Given the description of an element on the screen output the (x, y) to click on. 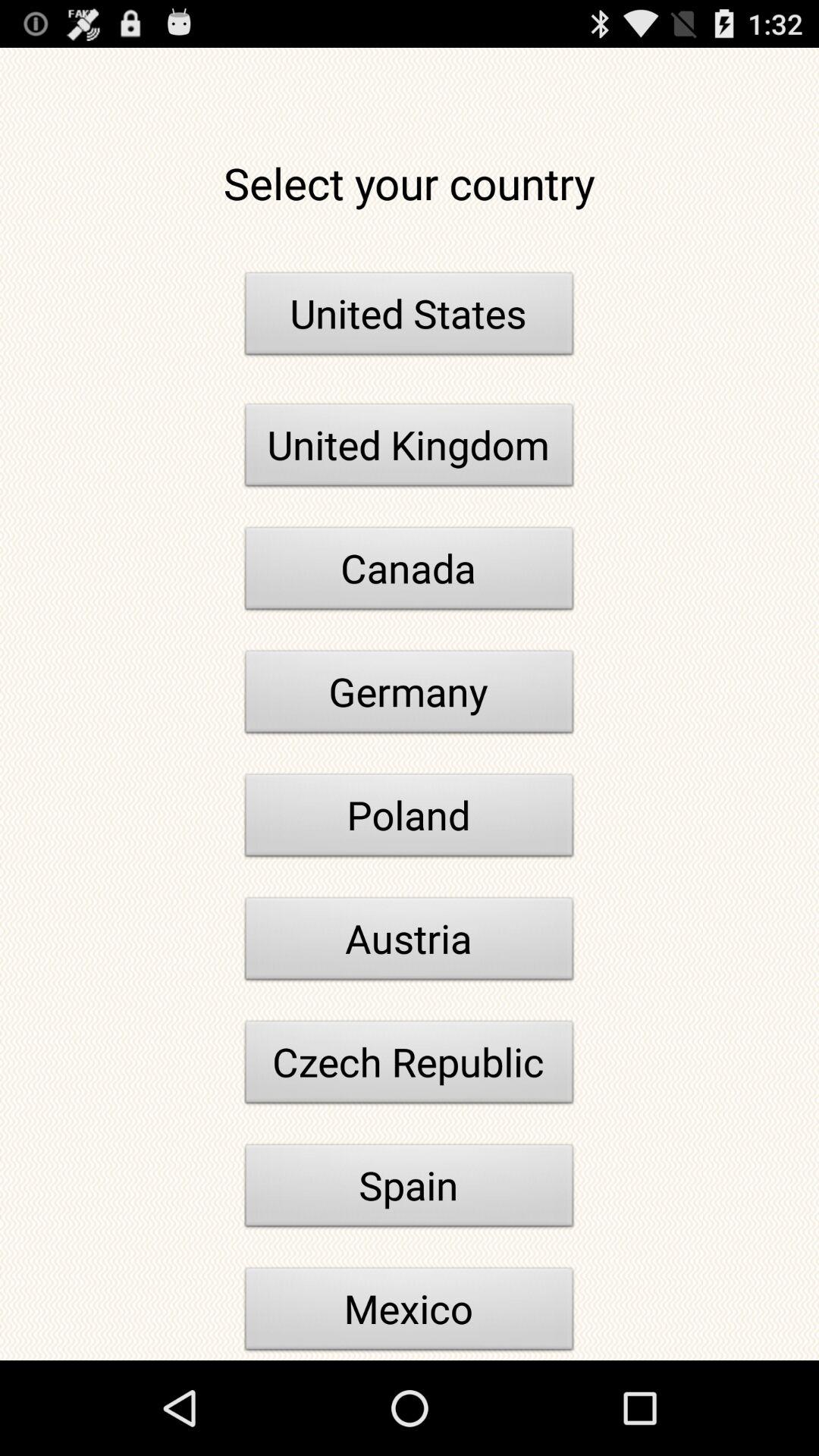
click the austria item (409, 942)
